Given the description of an element on the screen output the (x, y) to click on. 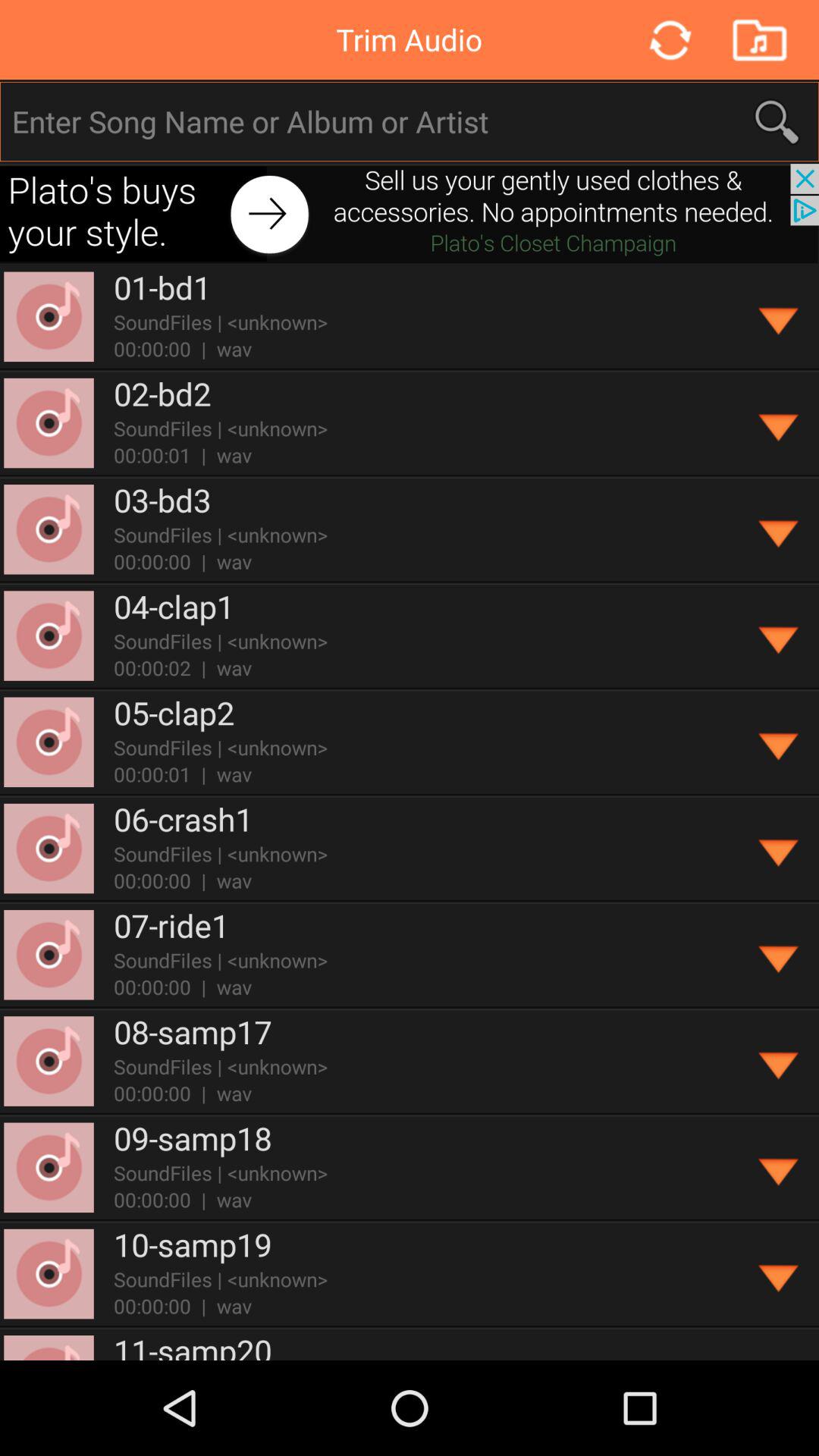
play this (779, 529)
